Given the description of an element on the screen output the (x, y) to click on. 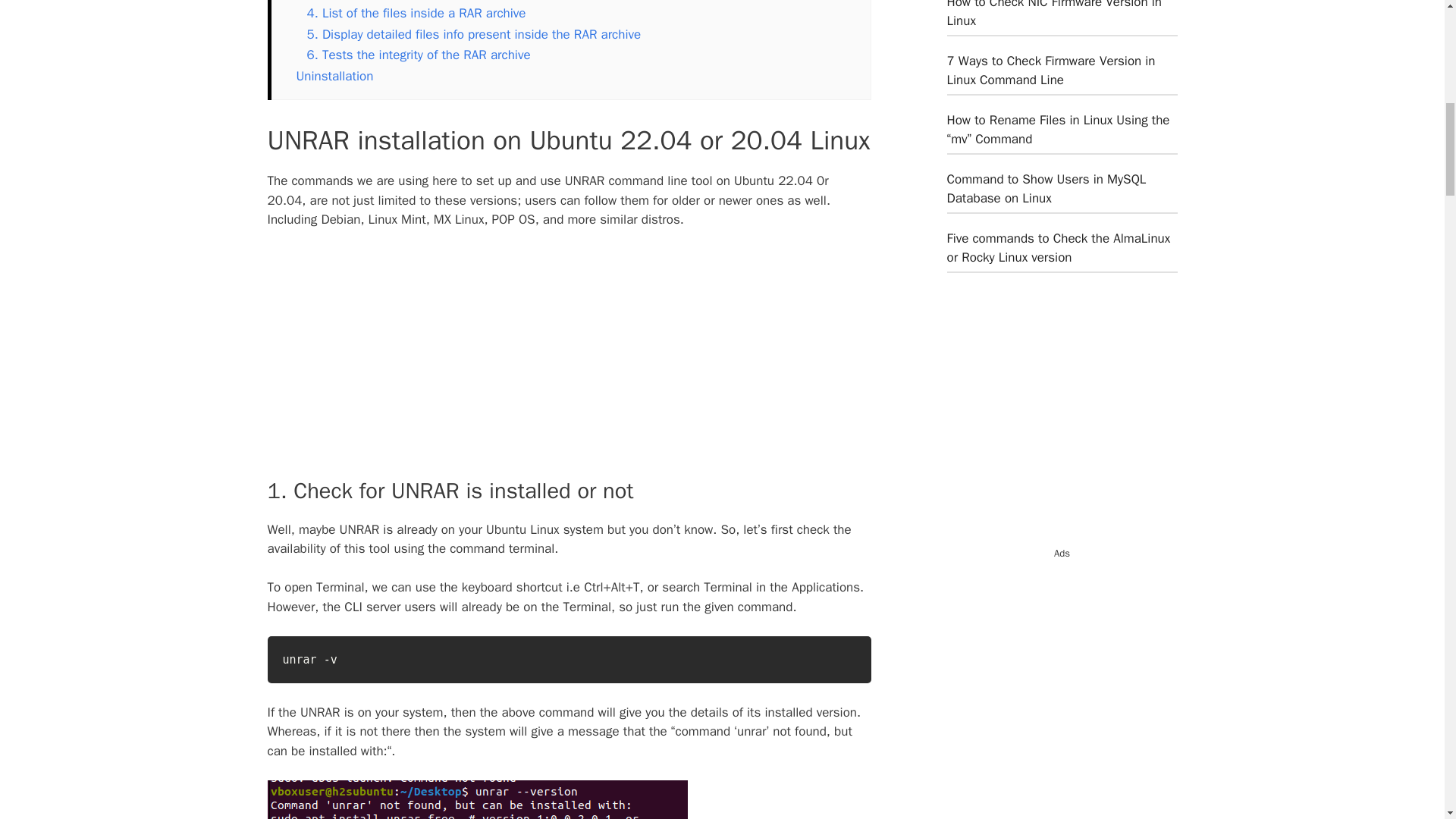
check unrar is installed (476, 799)
